Given the description of an element on the screen output the (x, y) to click on. 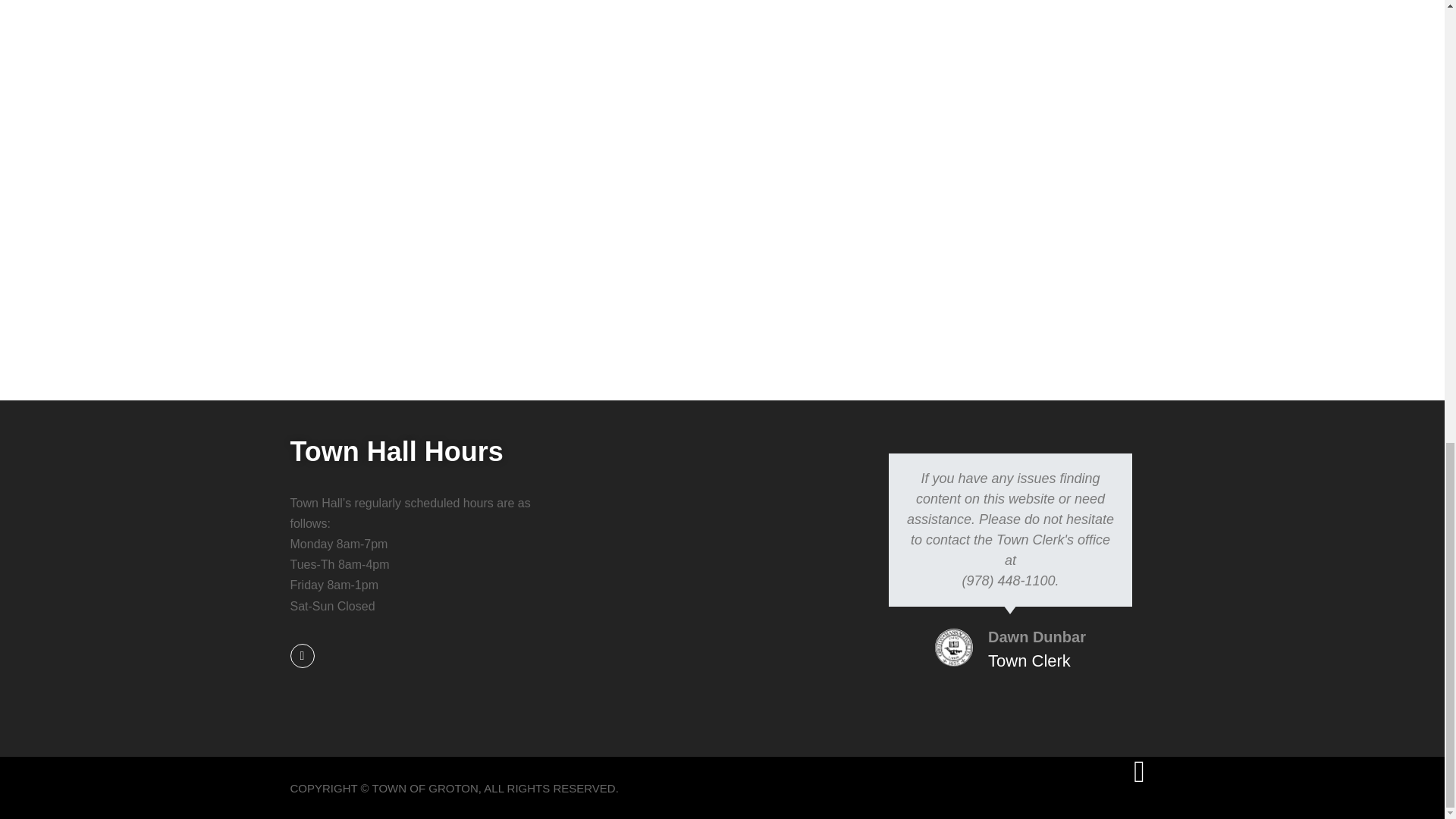
173 Main St. Groton, MA 01450 (722, 532)
